Given the description of an element on the screen output the (x, y) to click on. 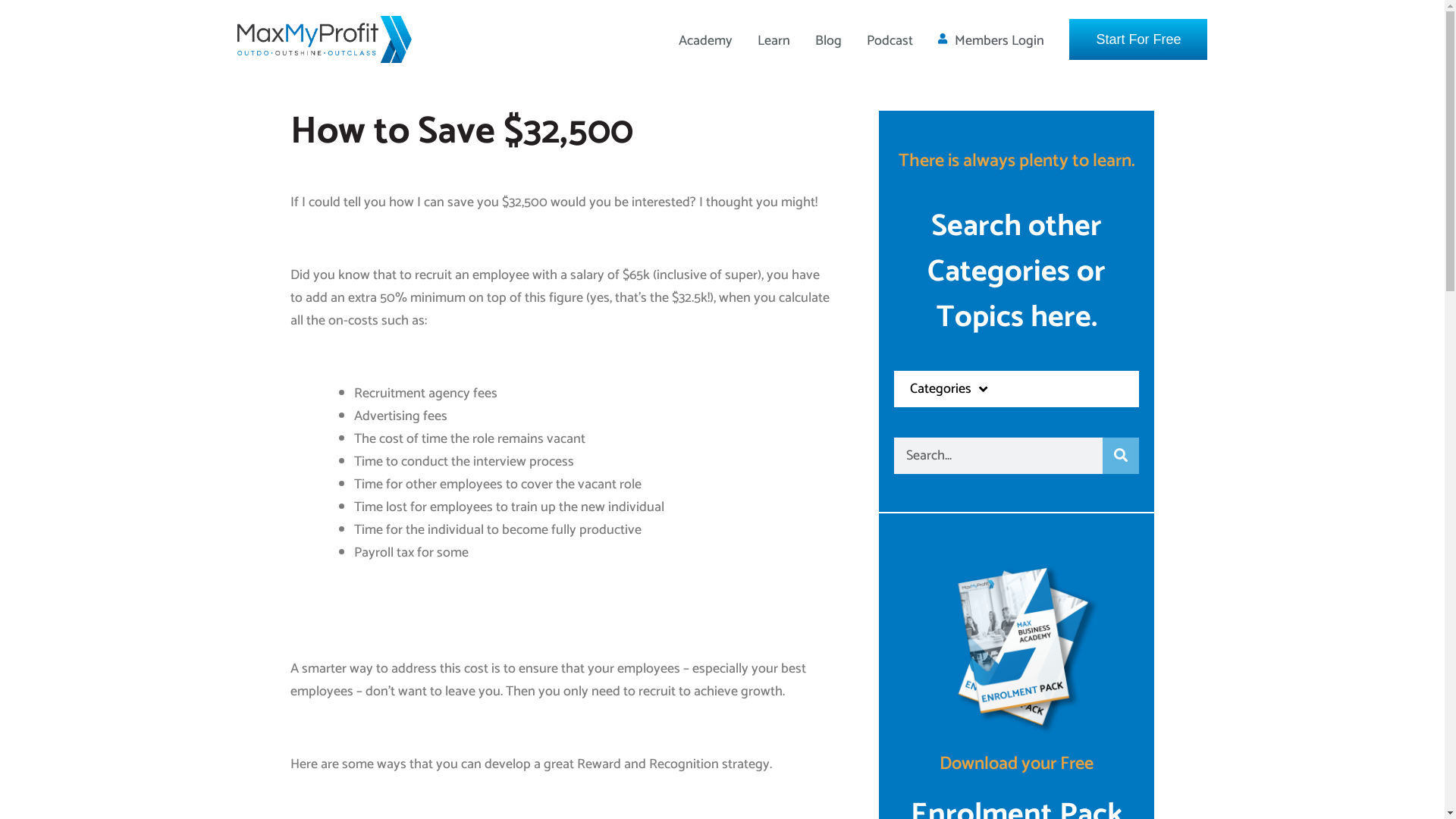
Blog Element type: text (828, 40)
Members Login Element type: text (991, 38)
Academy Element type: text (705, 40)
Learn Element type: text (773, 40)
Podcast Element type: text (889, 40)
Start For Free Element type: text (1138, 38)
Categories Element type: text (1016, 388)
